Given the description of an element on the screen output the (x, y) to click on. 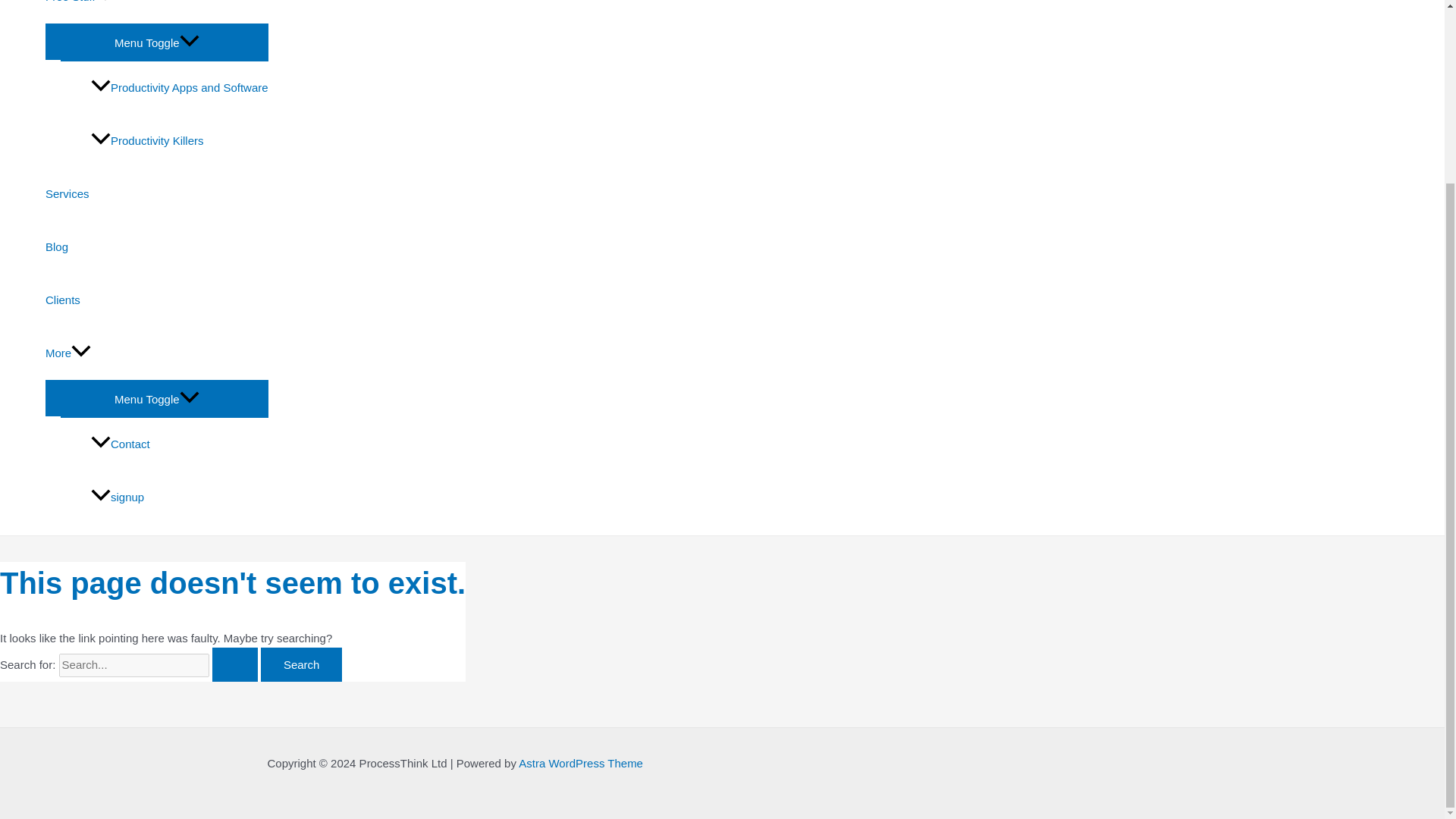
Astra WordPress Theme (580, 762)
Free Stuff (156, 11)
Clients (156, 299)
Menu Toggle (156, 41)
Productivity Killers (178, 140)
Search (301, 664)
Productivity Apps and Software (178, 87)
More (156, 353)
Blog (156, 246)
Search (301, 664)
